Given the description of an element on the screen output the (x, y) to click on. 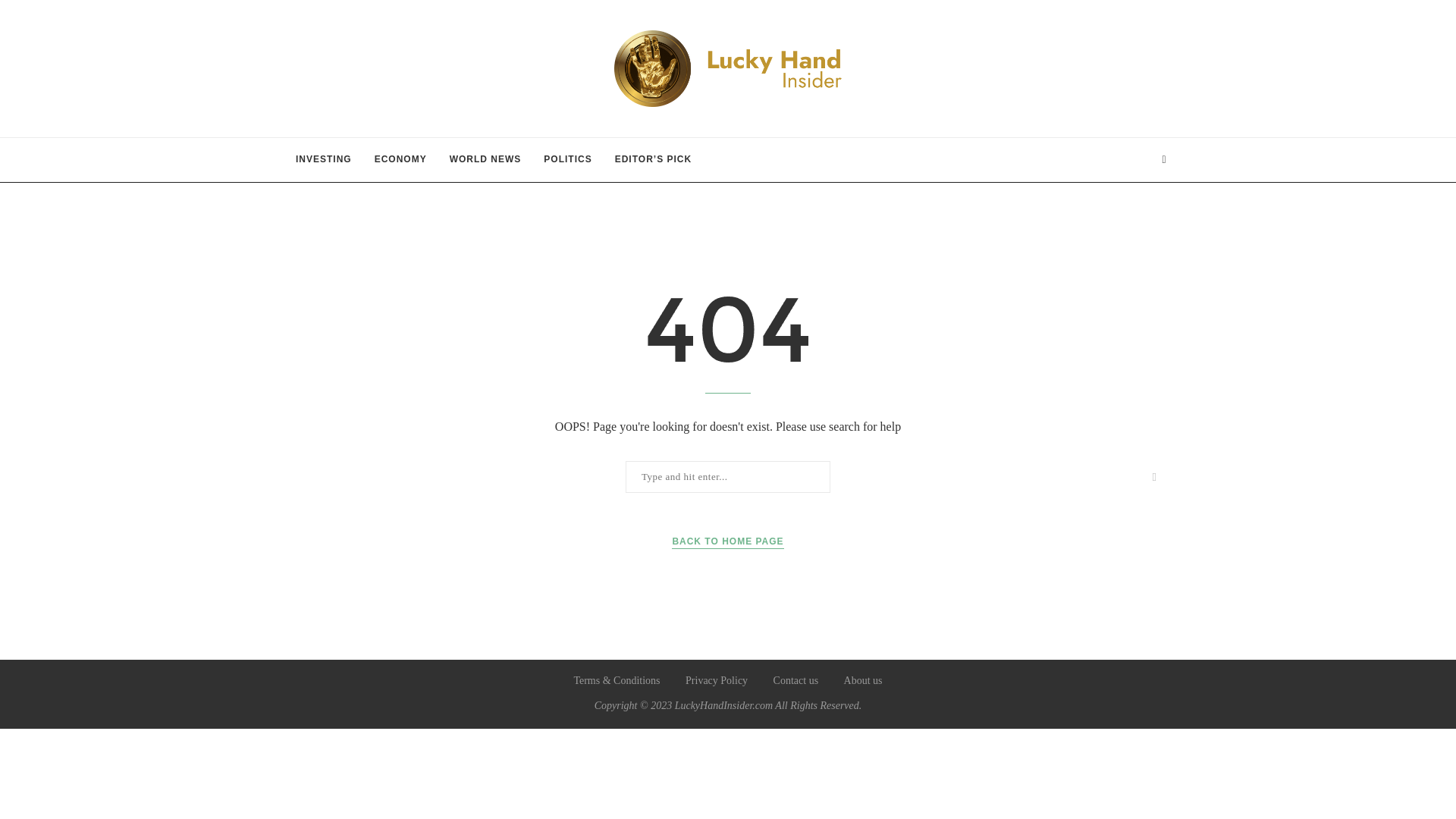
Contact us (795, 680)
Privacy Policy (716, 680)
ECONOMY (400, 159)
BACK TO HOME PAGE (727, 541)
POLITICS (567, 159)
About us (863, 680)
WORLD NEWS (485, 159)
INVESTING (322, 159)
